Given the description of an element on the screen output the (x, y) to click on. 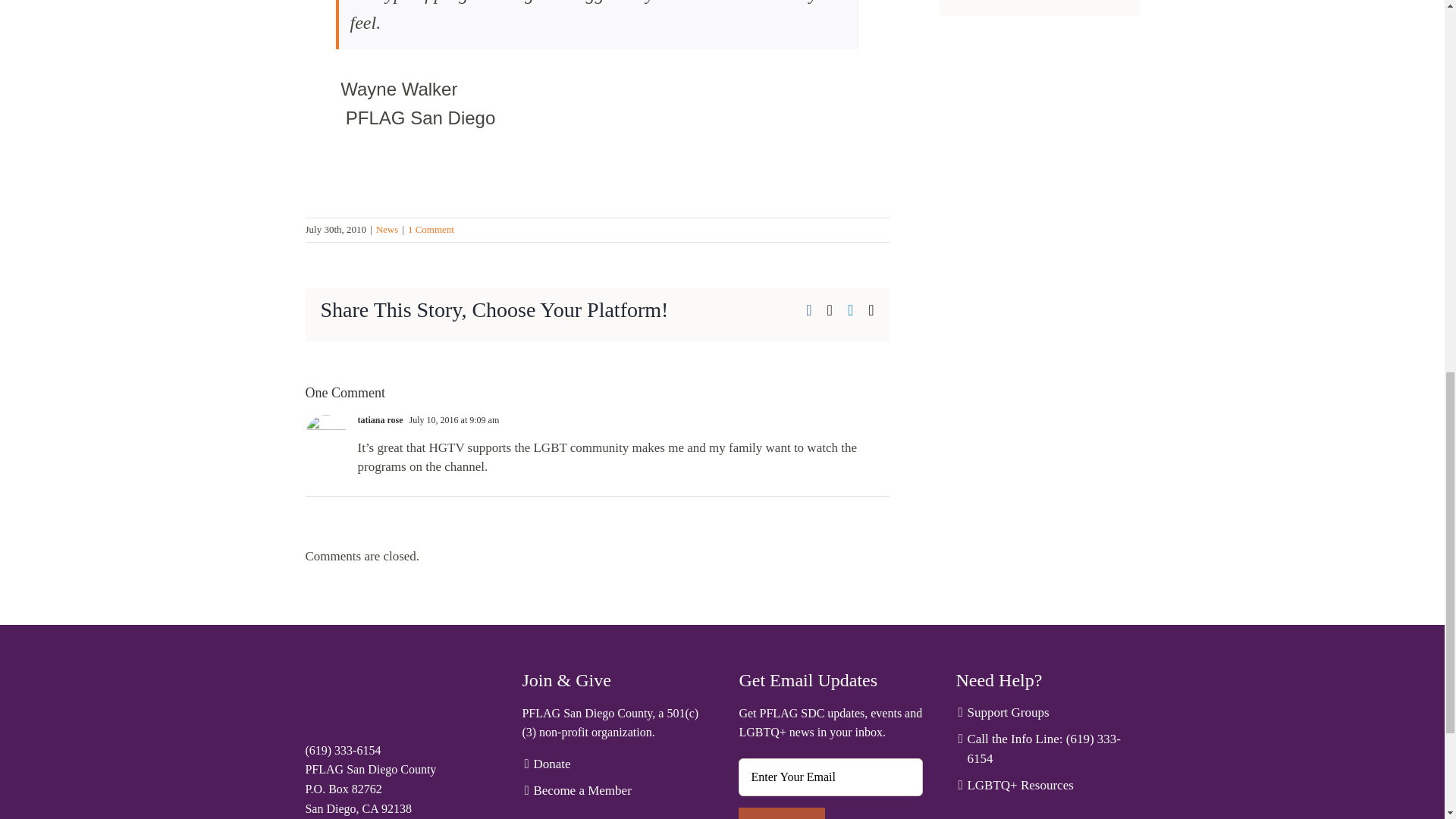
Subscribe (781, 813)
1 Comment (430, 229)
PFLAG-SDC-Logo-2023-web-white (368, 699)
News (386, 229)
